Given the description of an element on the screen output the (x, y) to click on. 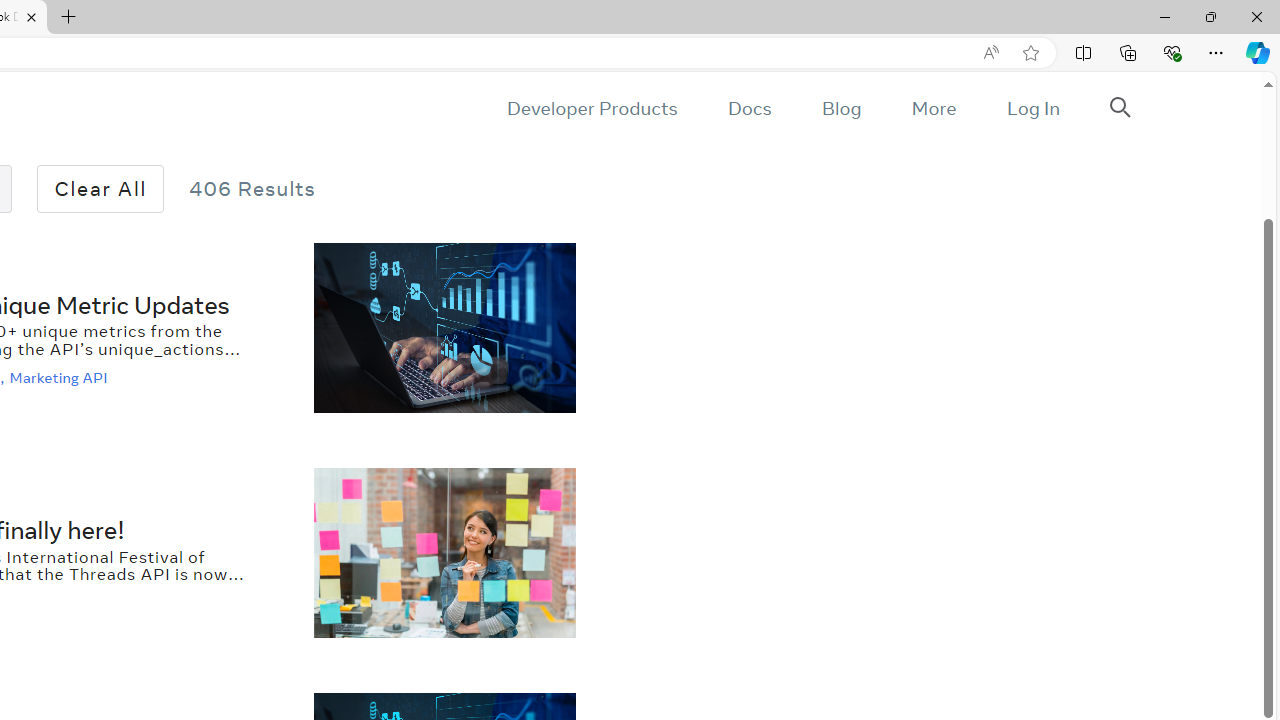
Log In (1032, 108)
Developer Products (591, 108)
New Tab (69, 17)
More (933, 108)
Settings and more (Alt+F) (1215, 52)
Blog (841, 108)
Minimize (1164, 16)
Browser essentials (1171, 52)
Read aloud this page (Ctrl+Shift+U) (991, 53)
Blog (841, 108)
Split screen (1083, 52)
Marketing API (60, 377)
Log In (1032, 108)
Docs (749, 108)
Copilot (Ctrl+Shift+.) (1258, 52)
